Given the description of an element on the screen output the (x, y) to click on. 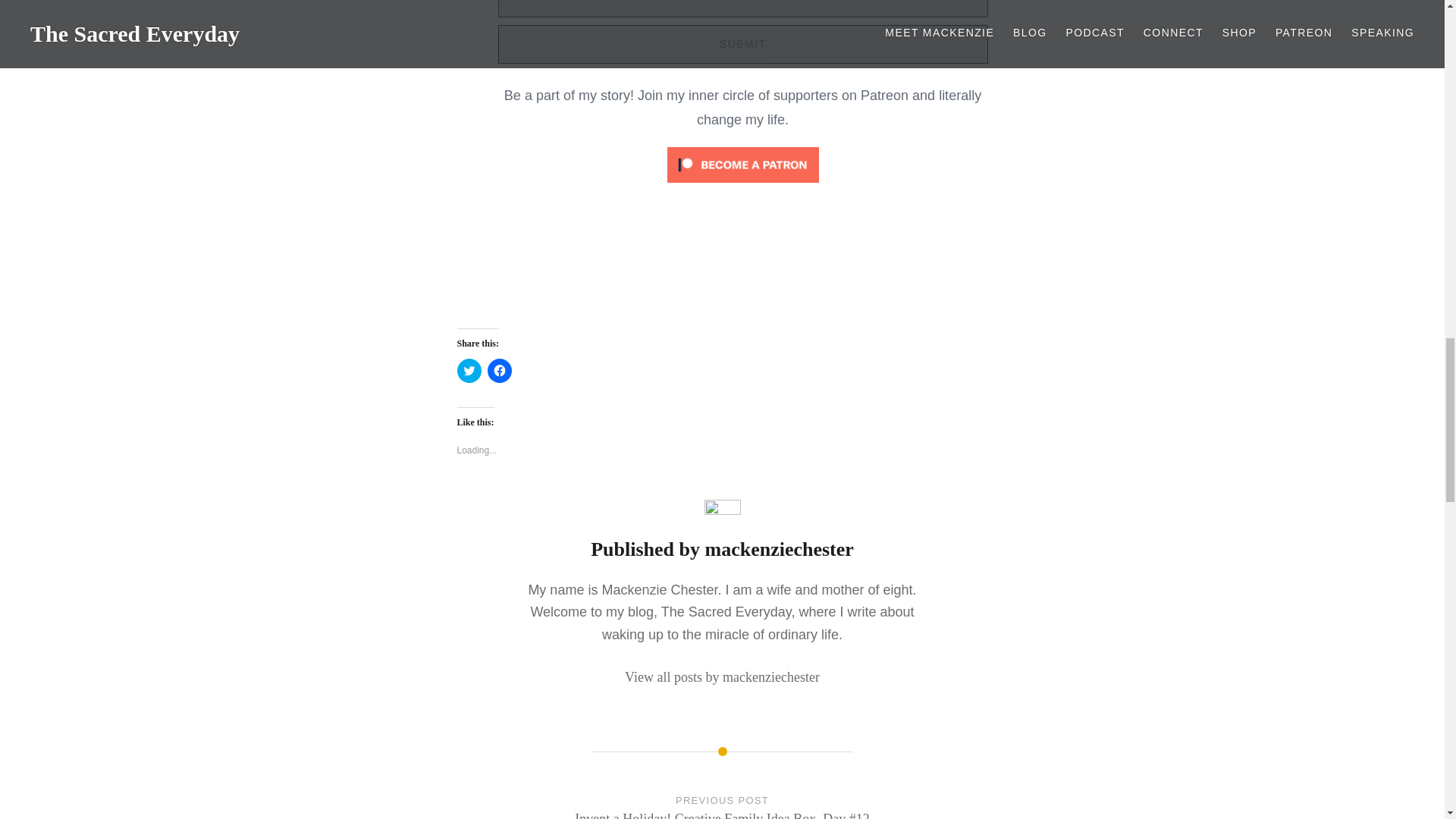
Click to share on Facebook (498, 370)
Submit (742, 44)
Click to share on Twitter (468, 370)
Submit (742, 44)
